Given the description of an element on the screen output the (x, y) to click on. 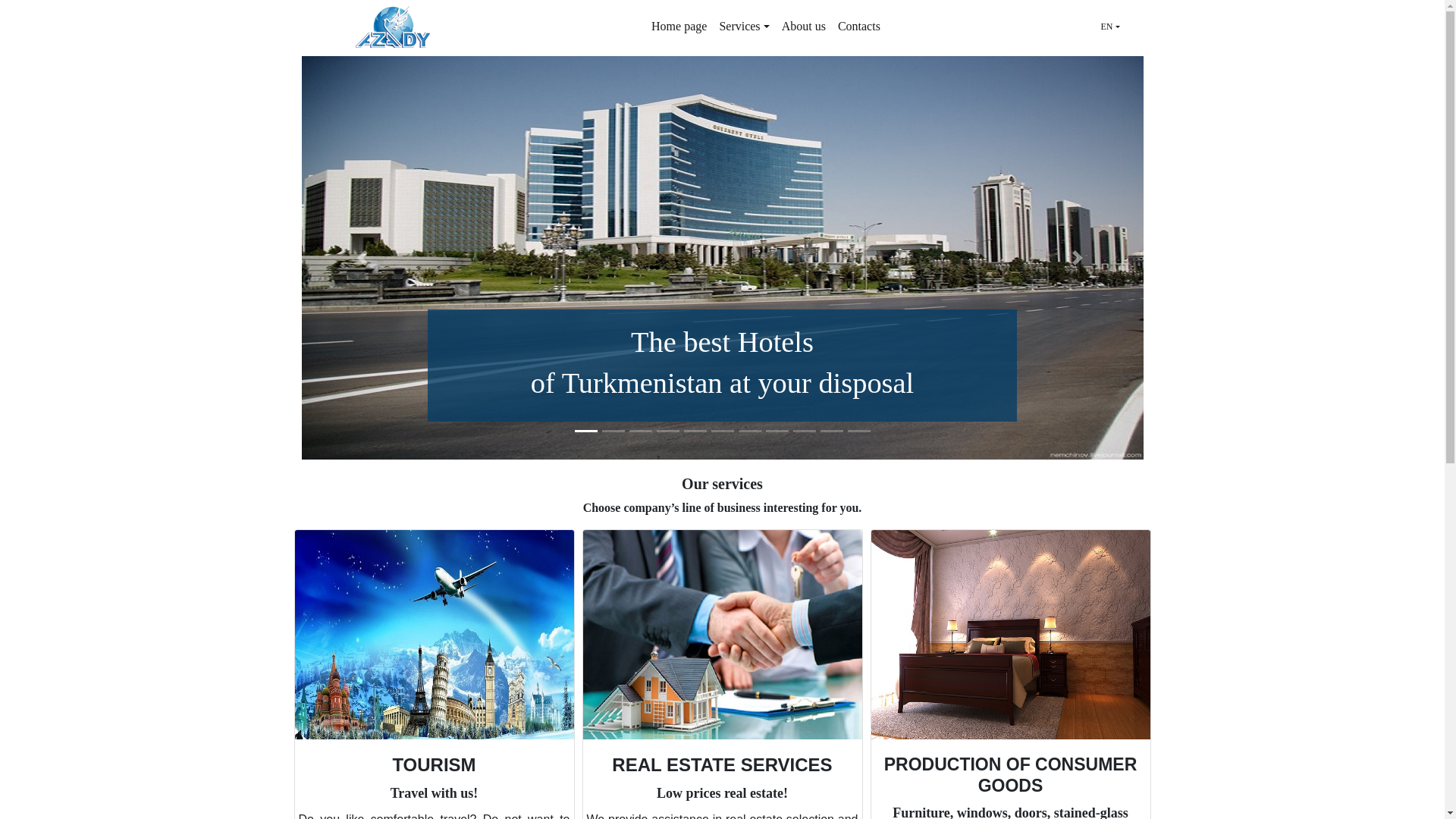
Contacts (858, 26)
Services (743, 26)
Home page (679, 26)
EN (1109, 26)
About us (803, 26)
